Given the description of an element on the screen output the (x, y) to click on. 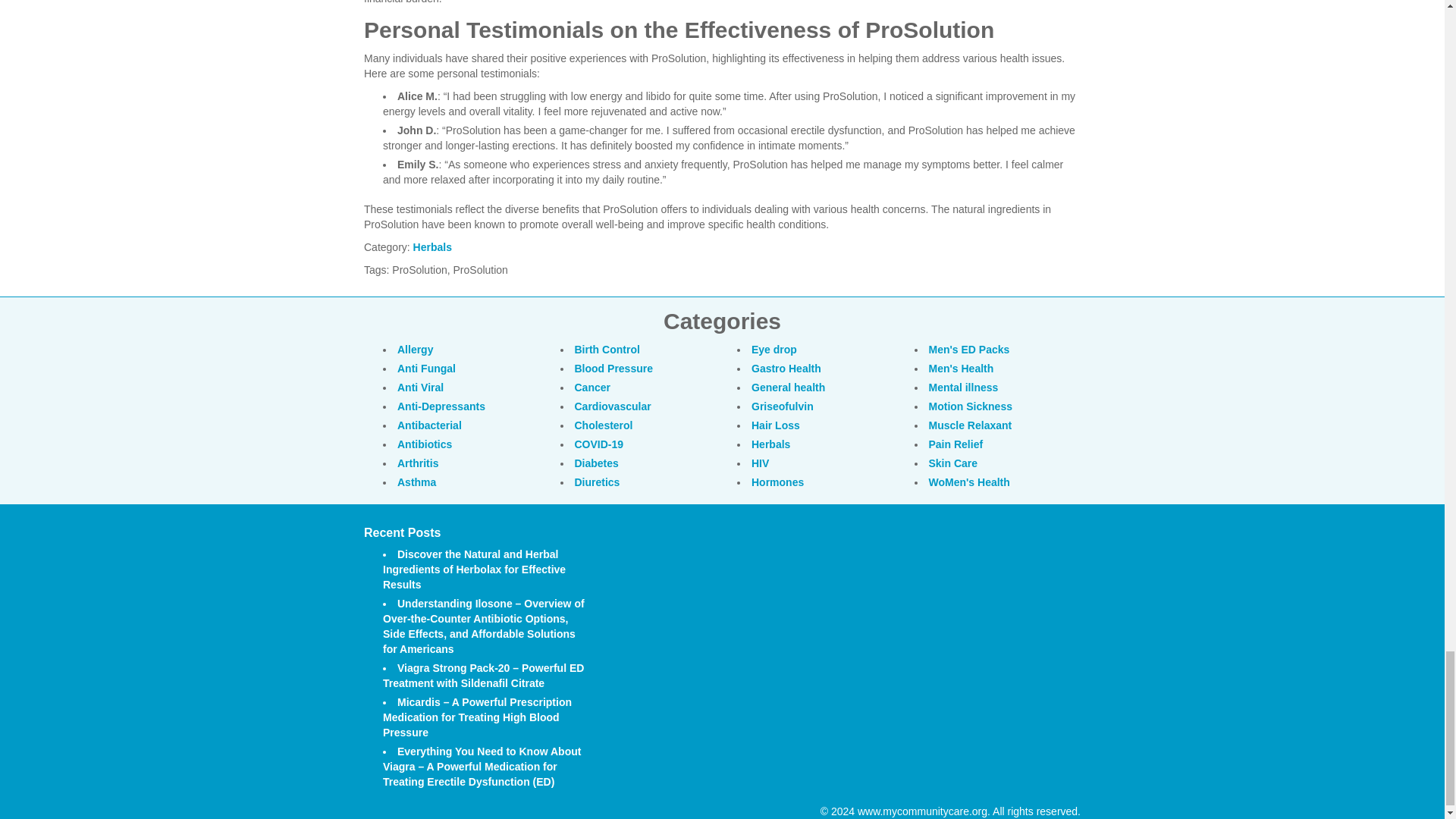
Asthma (416, 481)
Cardiovascular (612, 406)
Herbals (432, 246)
Antibacterial (429, 425)
Blood Pressure (613, 368)
Anti Viral (420, 387)
Cancer (592, 387)
COVID-19 (599, 444)
Antibiotics (424, 444)
Arthritis (417, 463)
Birth Control (607, 349)
Allergy (414, 349)
Anti-Depressants (440, 406)
Cholesterol (604, 425)
Anti Fungal (426, 368)
